Given the description of an element on the screen output the (x, y) to click on. 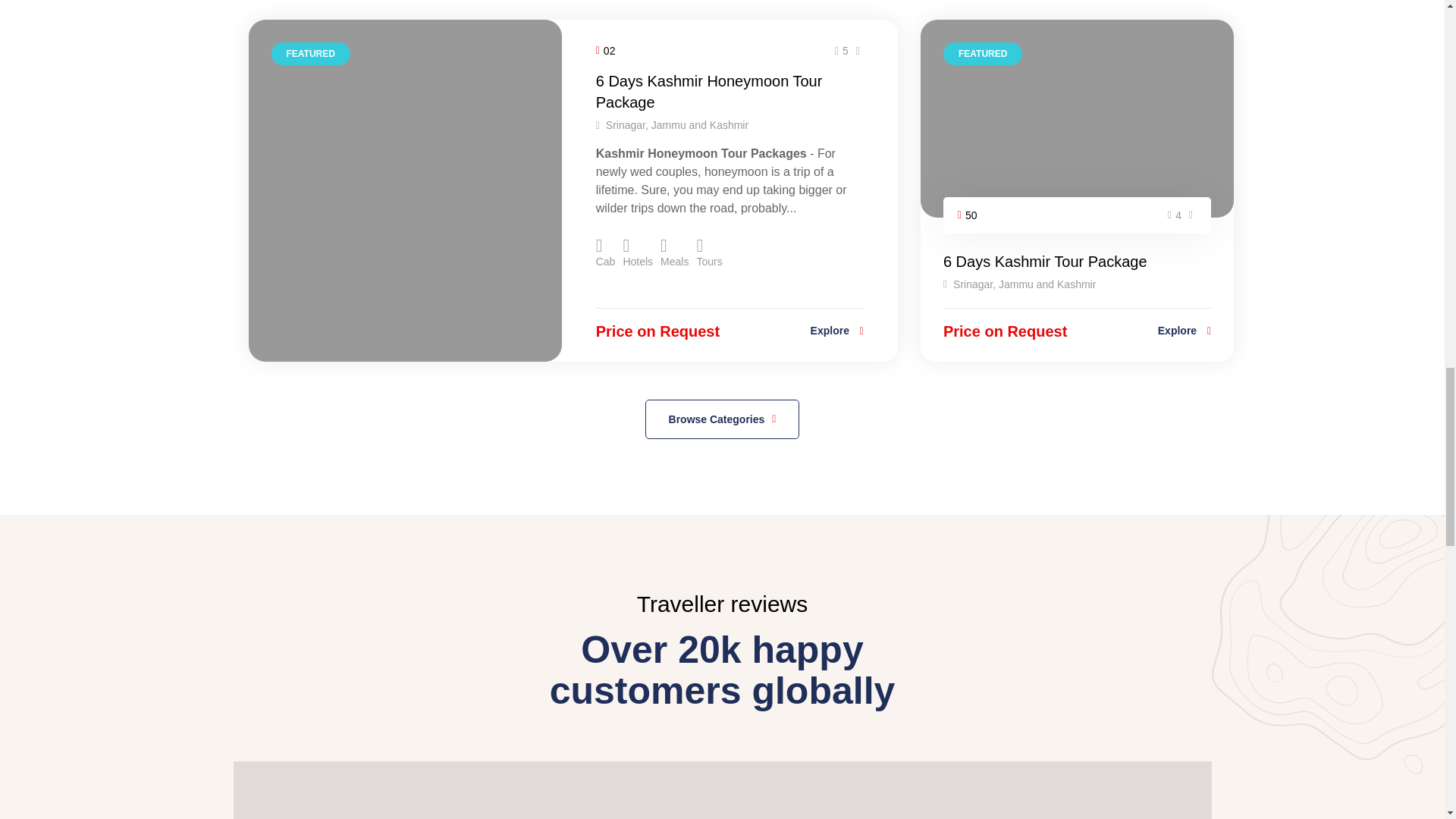
6 Days Kashmir Honeymoon Tour Package (708, 91)
5 (841, 50)
Hotels (637, 252)
